Given the description of an element on the screen output the (x, y) to click on. 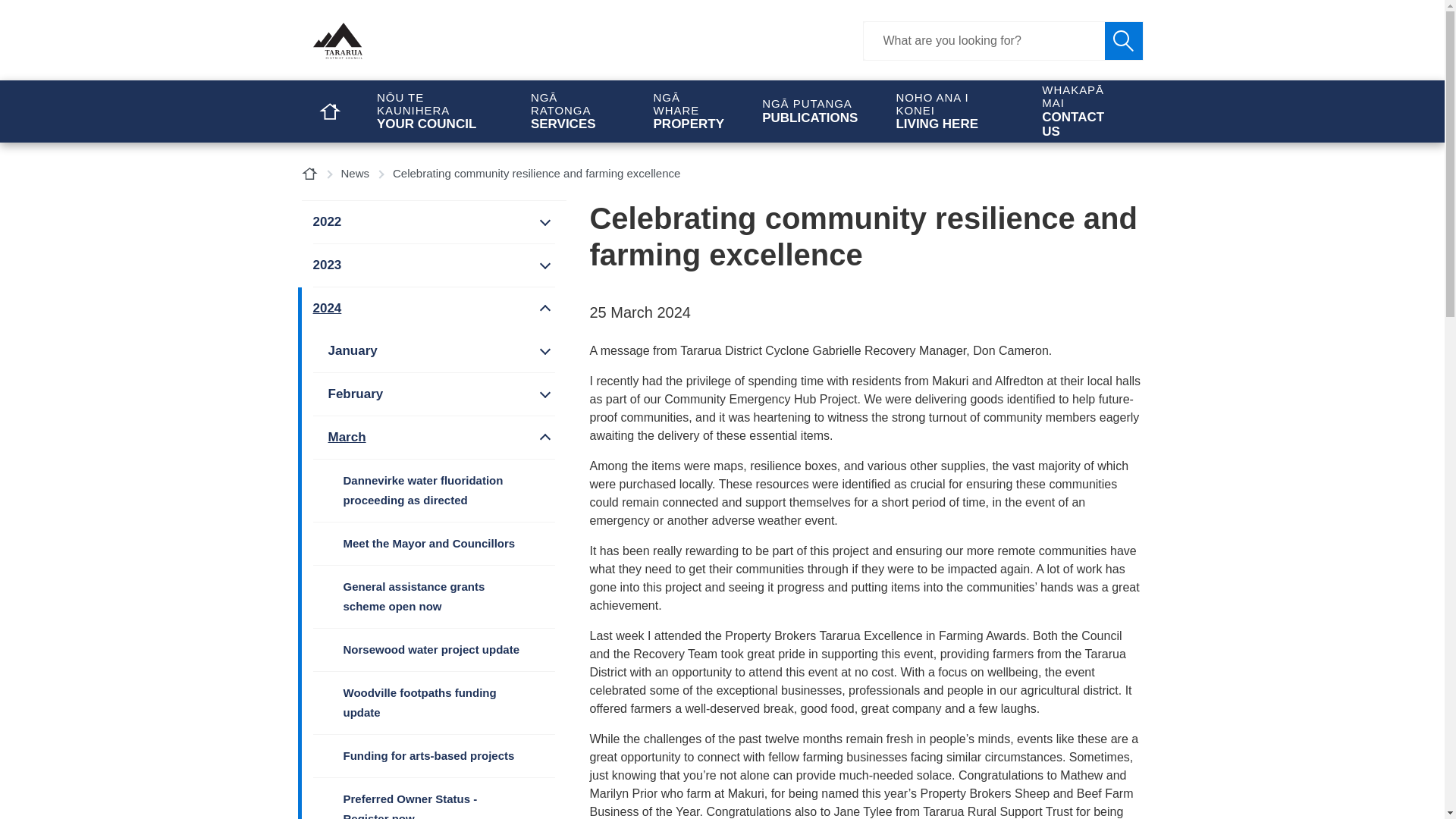
Site Logo (426, 40)
HOME (329, 111)
Submit search (1122, 40)
